Given the description of an element on the screen output the (x, y) to click on. 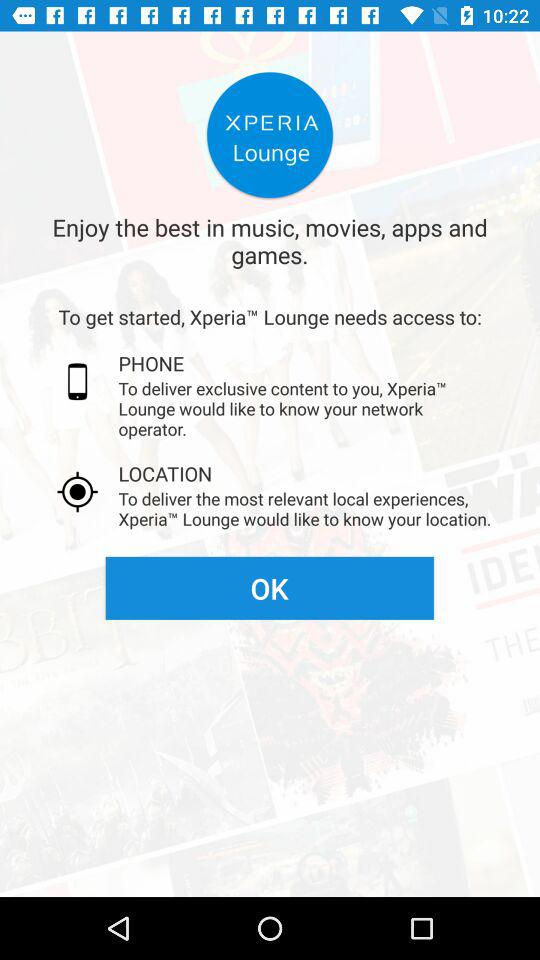
launch item below the to deliver the (269, 587)
